Given the description of an element on the screen output the (x, y) to click on. 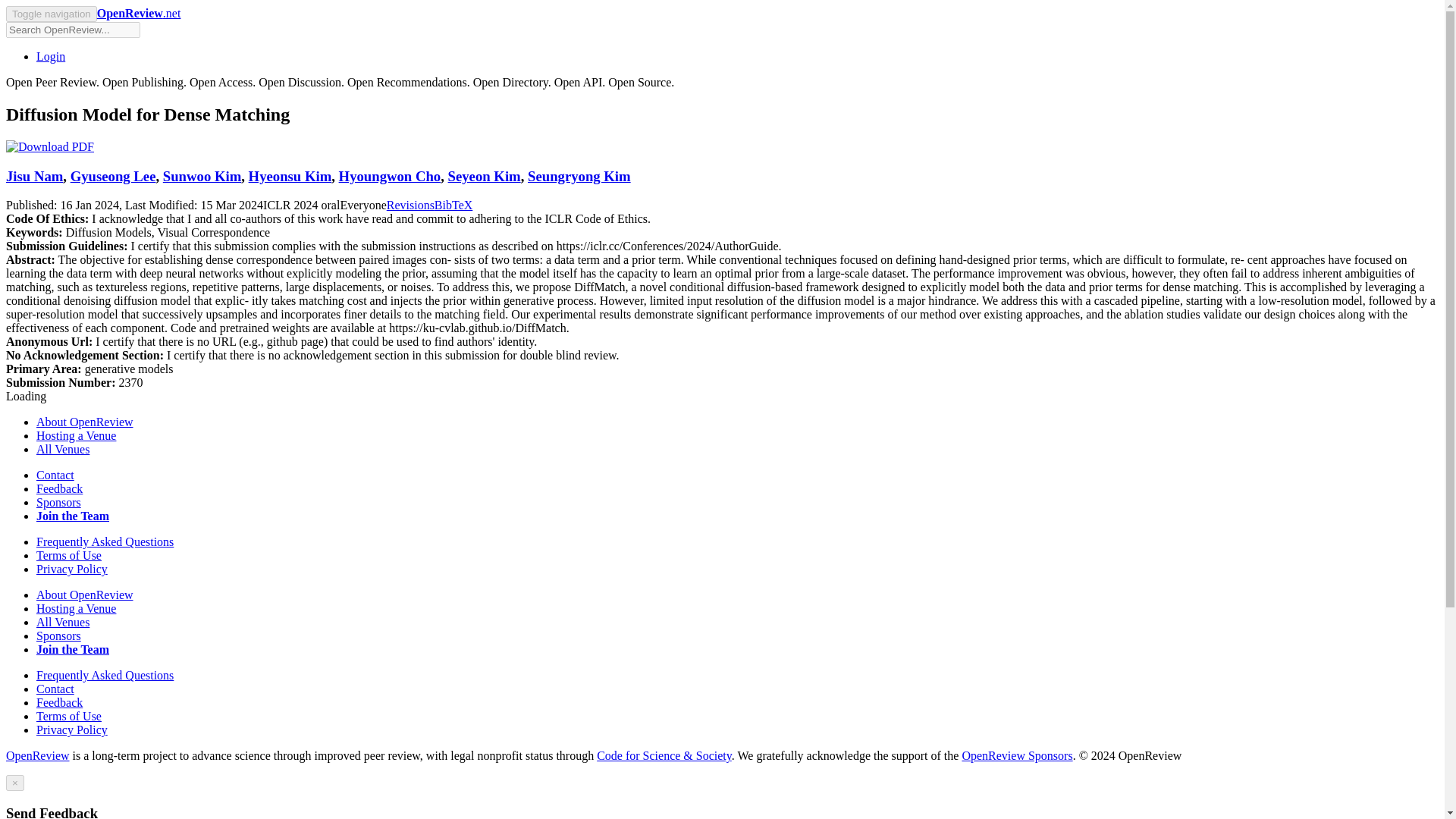
All Venues (62, 449)
BibTeX (452, 205)
Frequently Asked Questions (104, 675)
About OpenReview (84, 421)
Revisions (410, 205)
Privacy Policy (71, 568)
Contact (55, 688)
Toggle navigation (51, 13)
Feedback (59, 488)
Sunwoo Kim (202, 176)
